Given the description of an element on the screen output the (x, y) to click on. 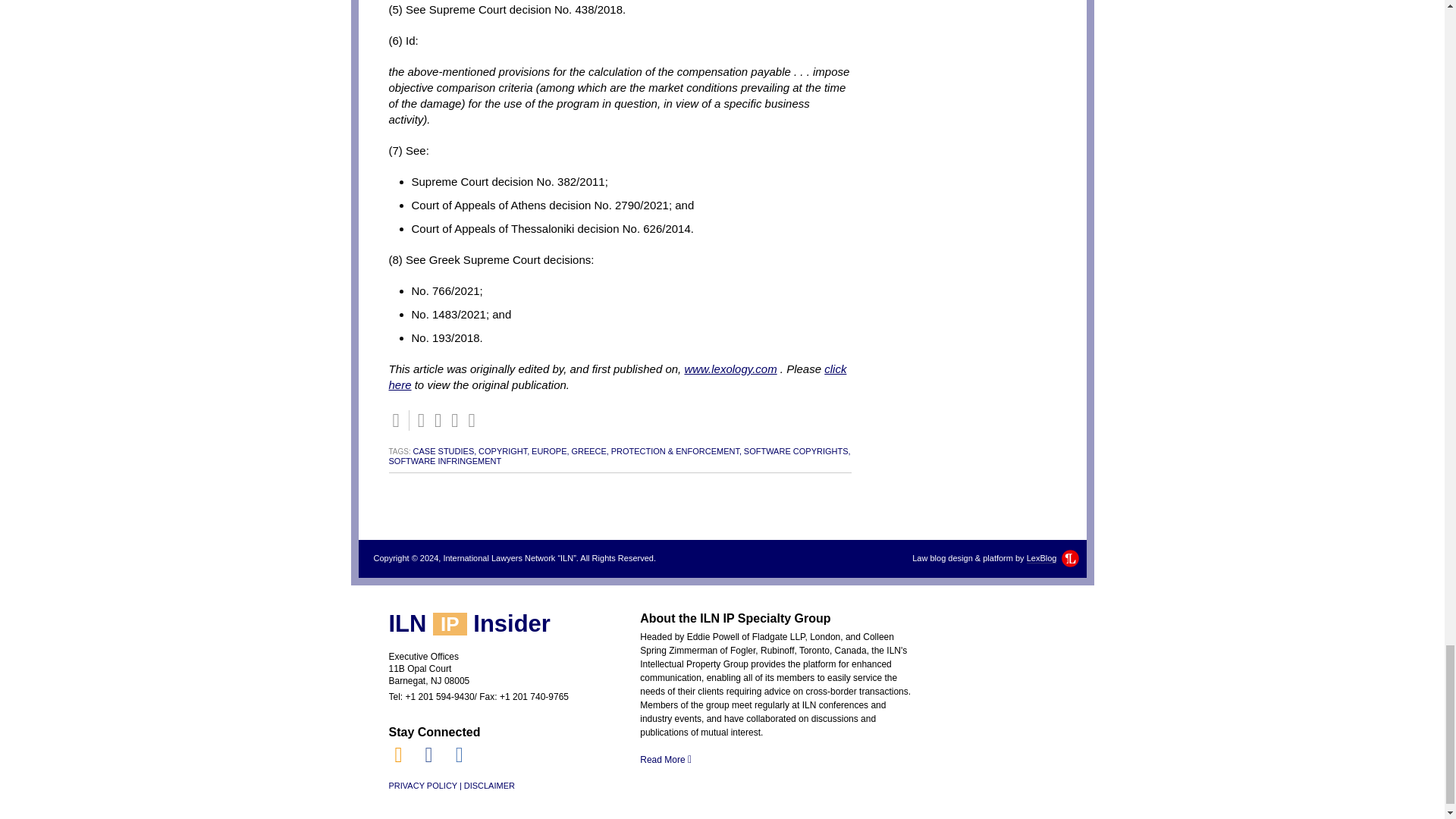
www.lexology.com (730, 368)
click here (616, 376)
